Given the description of an element on the screen output the (x, y) to click on. 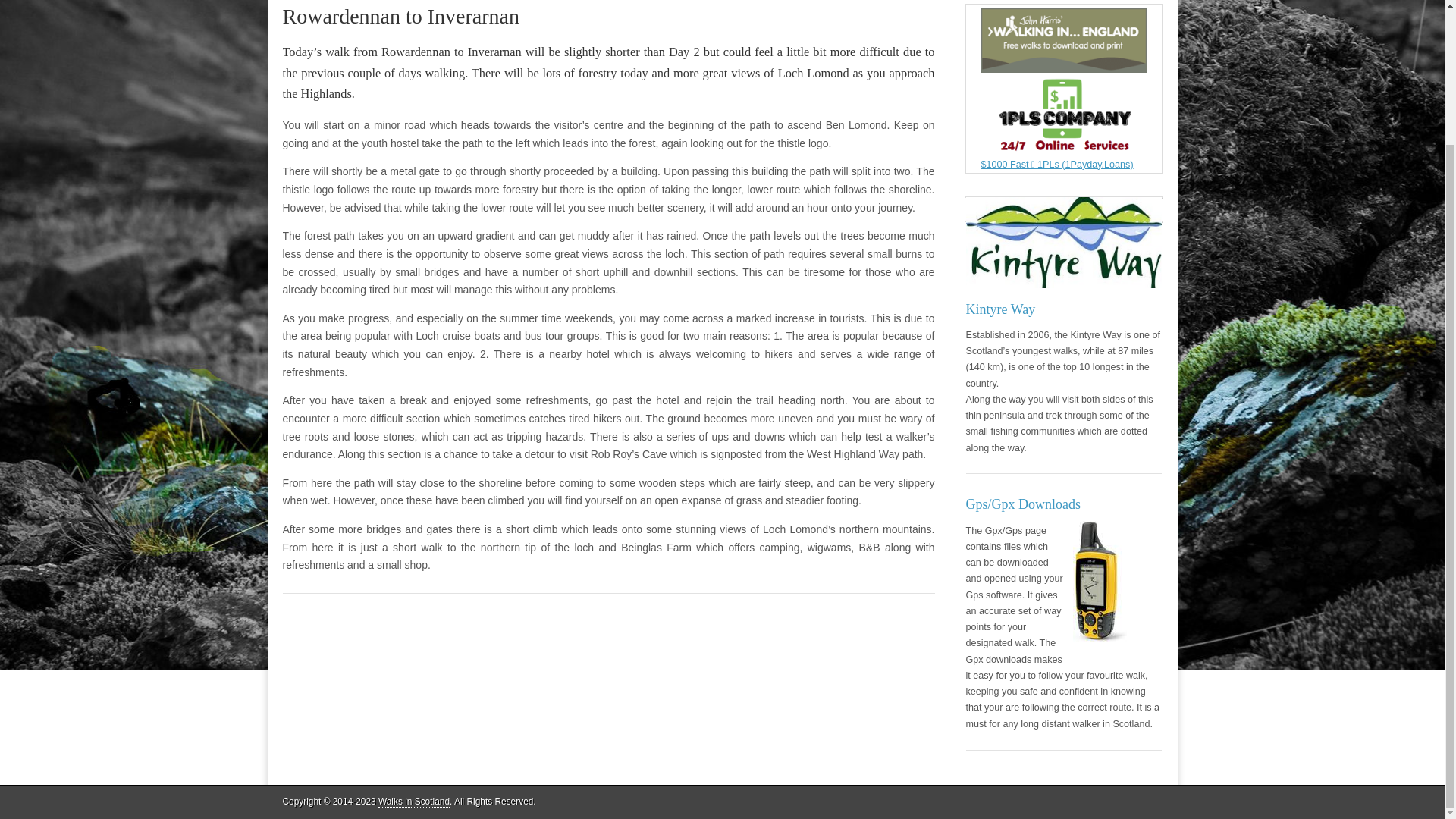
Kintyre Way (1063, 257)
1PLs Company - www.1Payday.Loans (1064, 122)
Walks in England (1064, 40)
